Given the description of an element on the screen output the (x, y) to click on. 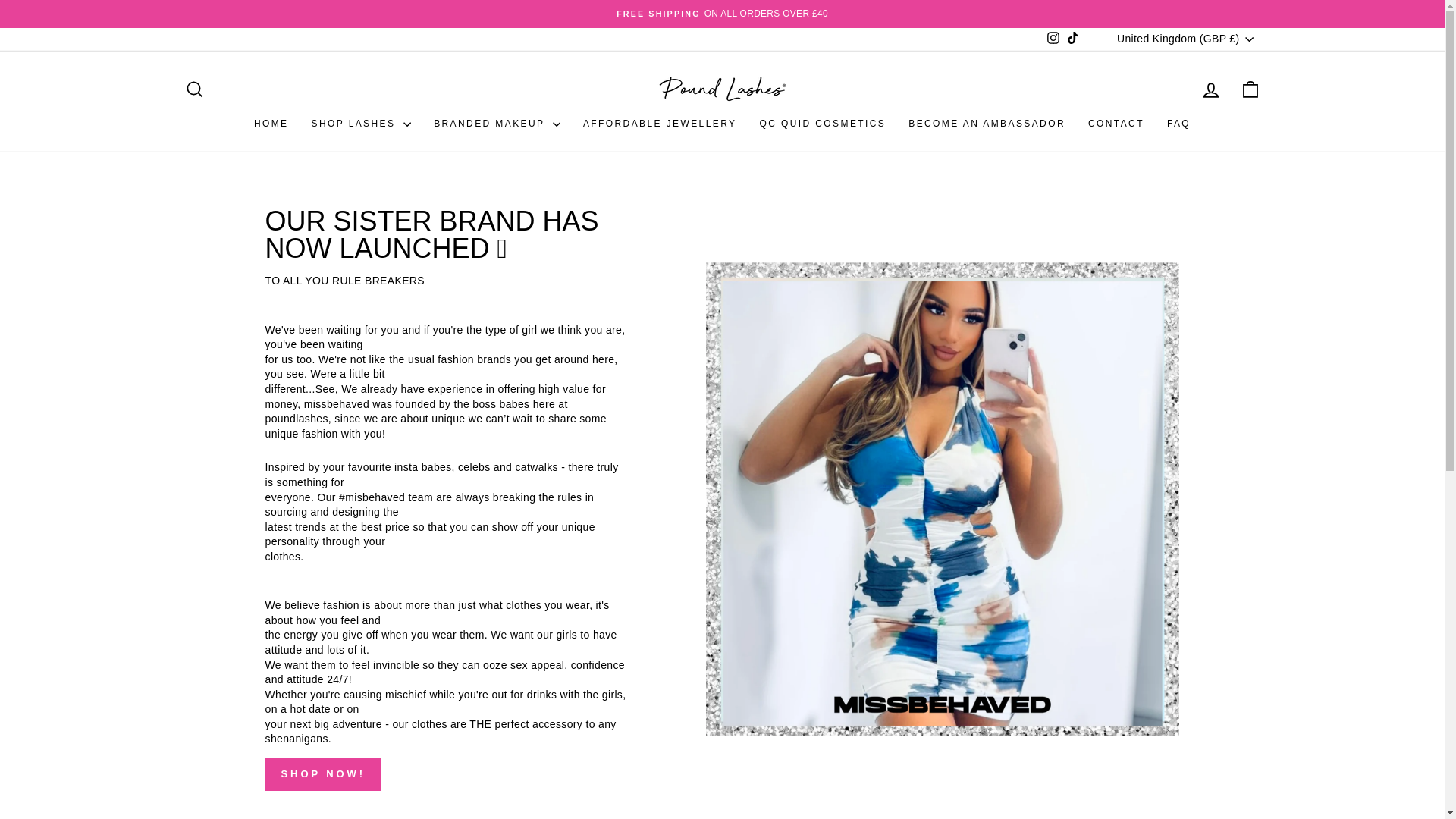
ICON-BAG-MINIMAL (1249, 88)
ACCOUNT (1210, 89)
Poundlashes on TikTok (1072, 38)
ICON-SEARCH (194, 88)
Poundlashes on Instagram (1052, 38)
instagram (1052, 37)
